Given the description of an element on the screen output the (x, y) to click on. 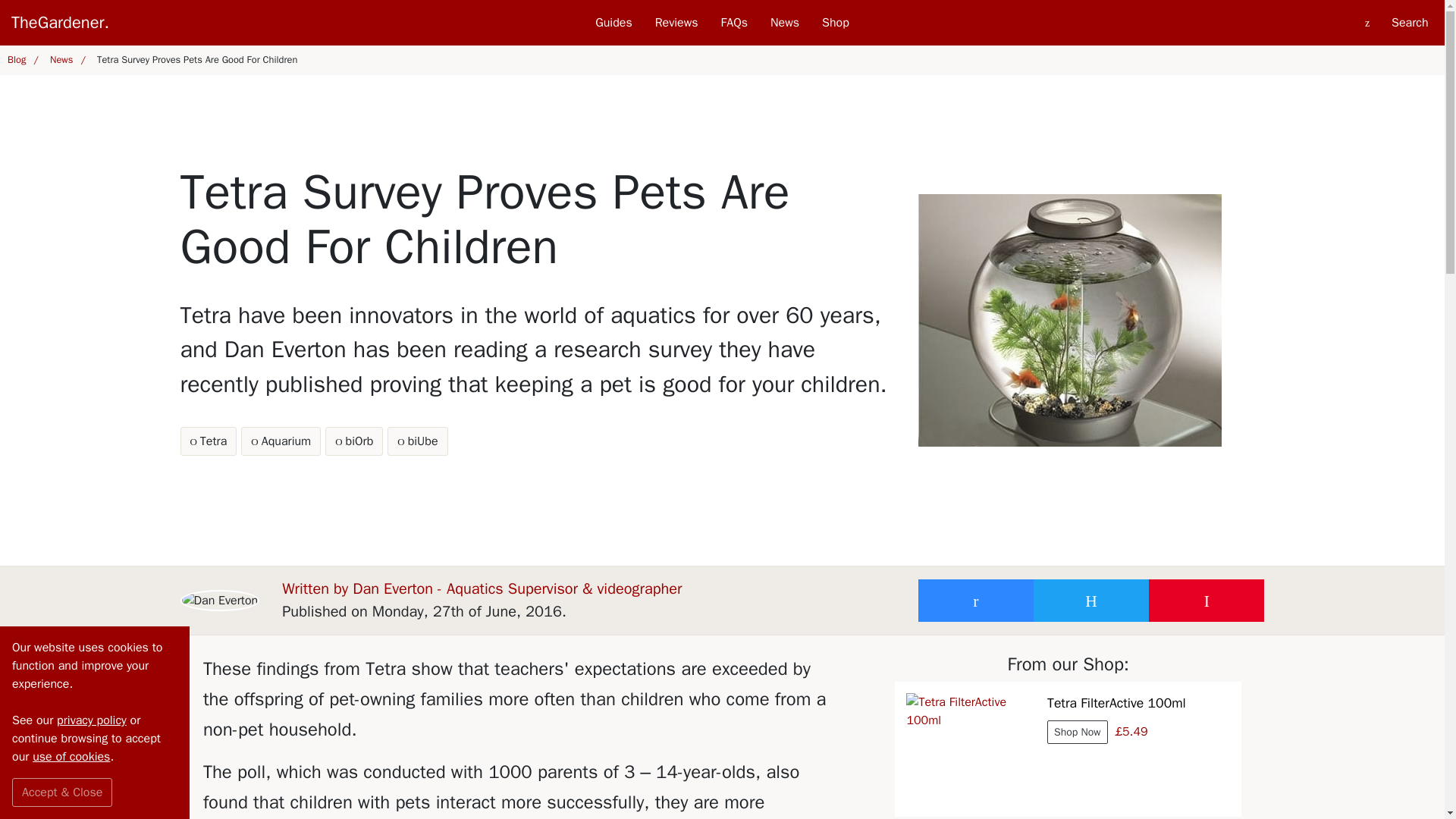
News (784, 22)
News (65, 60)
Tetra (208, 440)
Reviews (676, 22)
Blog (21, 60)
Shop (835, 22)
Guides (613, 22)
Tetra FilterActive 100ml  (970, 748)
biUbe (416, 440)
